Given the description of an element on the screen output the (x, y) to click on. 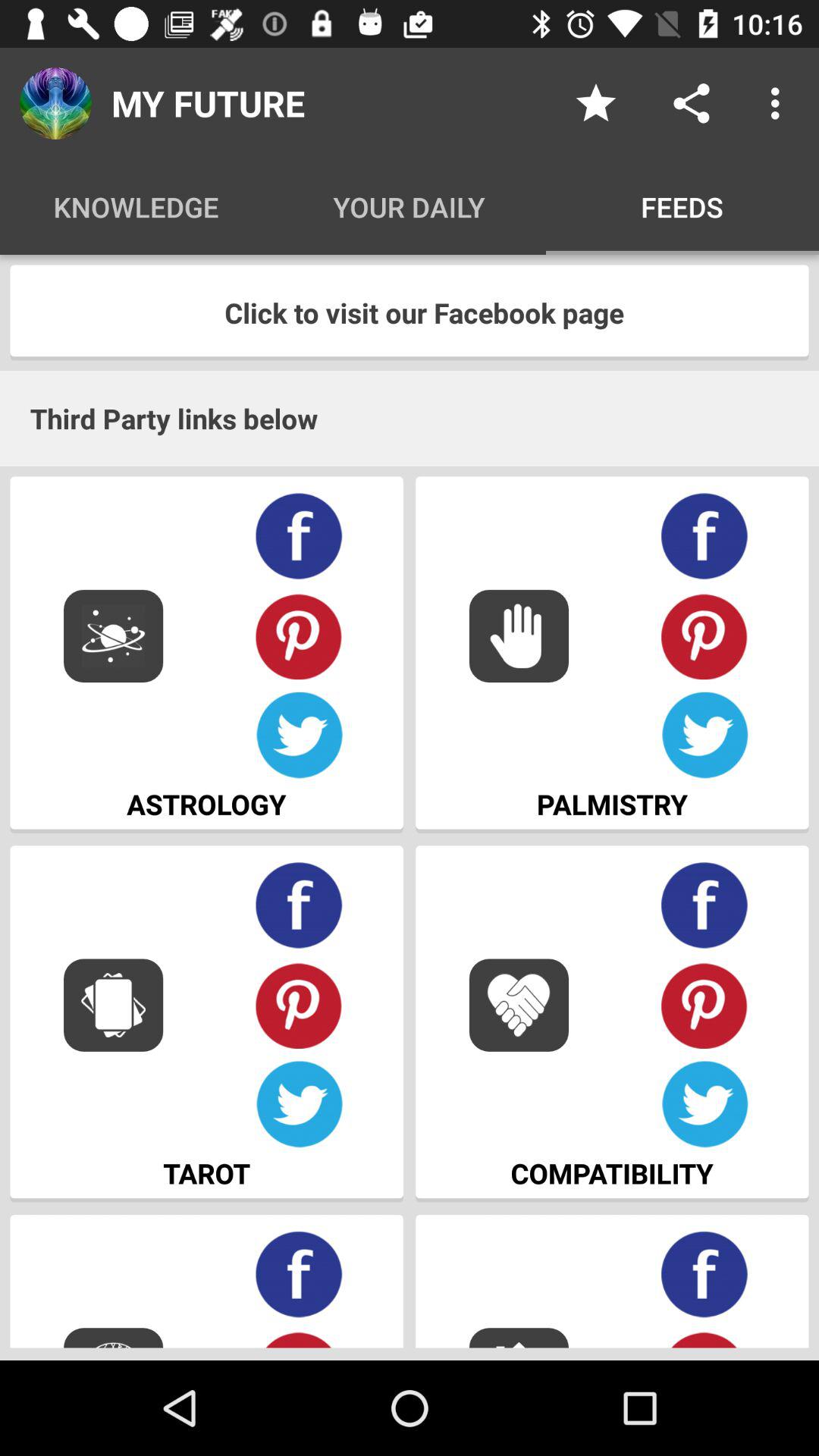
tarot twitter (299, 1104)
